Given the description of an element on the screen output the (x, y) to click on. 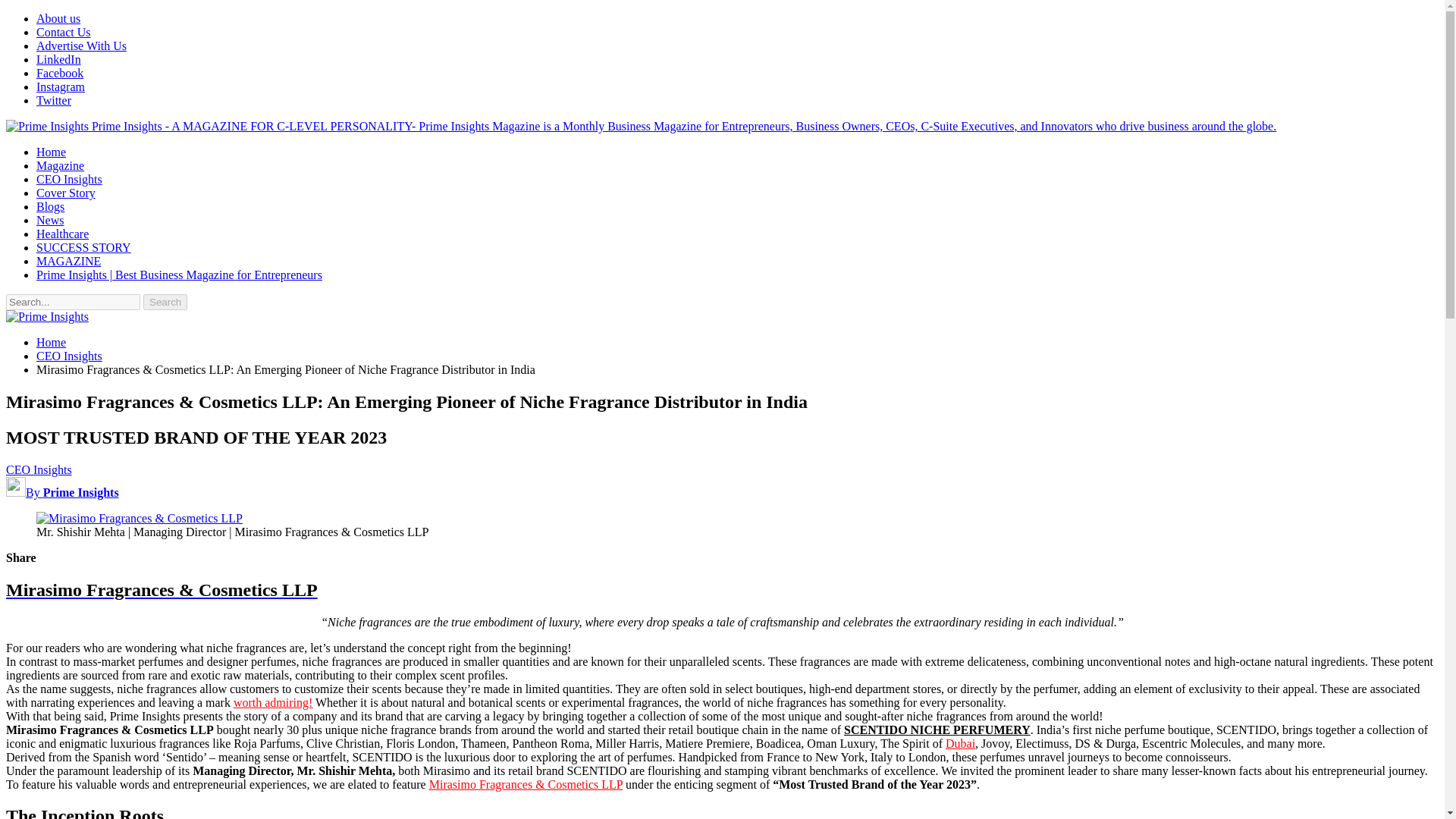
Magazine (60, 164)
CEO Insights (38, 469)
Search (164, 302)
By Prime Insights (62, 492)
About us (58, 18)
CEO Insights (68, 178)
Blogs (50, 205)
Cover Story (66, 192)
Home (50, 151)
Advertise With Us (81, 45)
Twitter (53, 100)
Healthcare (62, 233)
Contact Us (63, 31)
Browse Author Articles (62, 492)
MAGAZINE (68, 260)
